Given the description of an element on the screen output the (x, y) to click on. 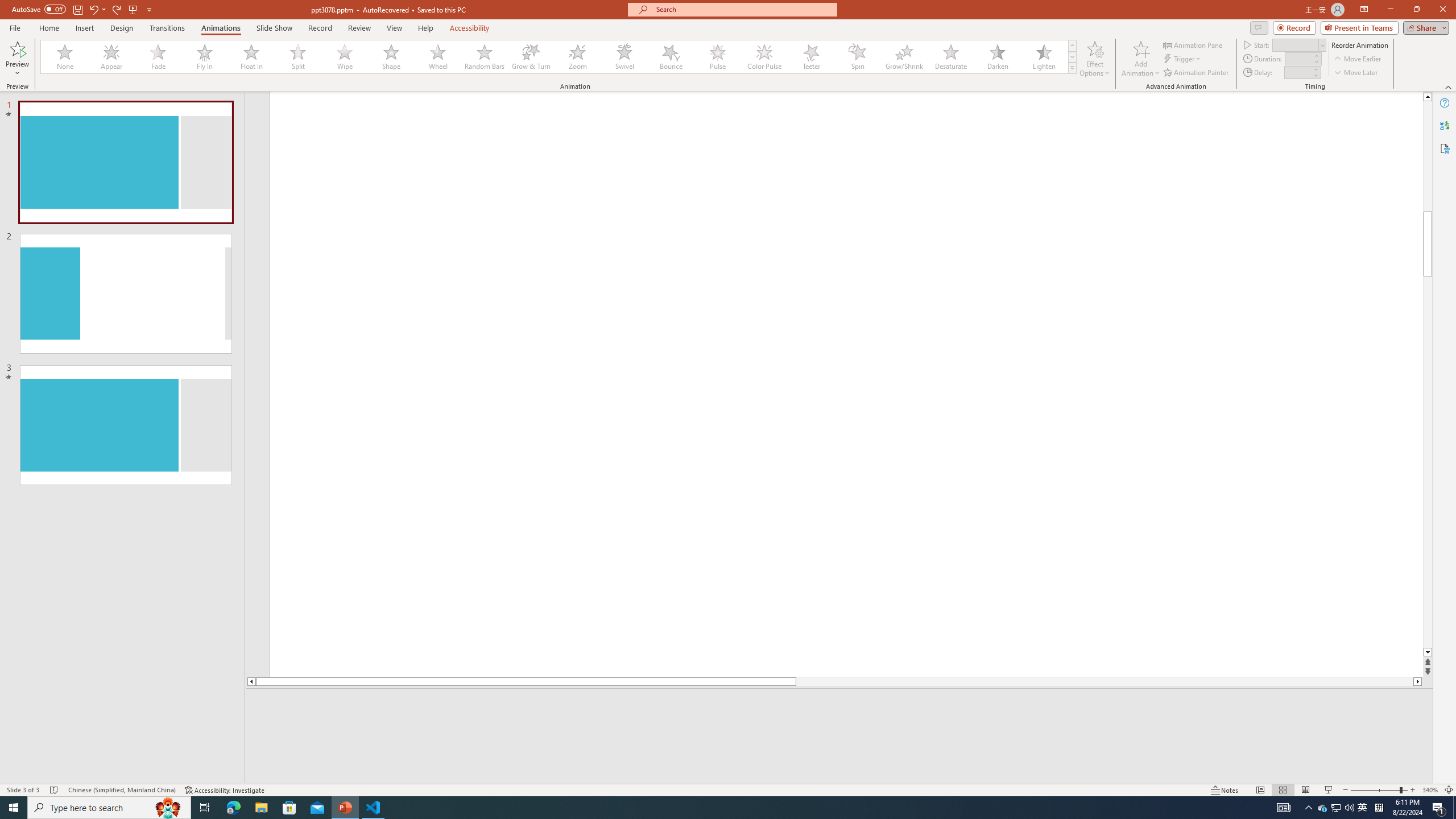
Desaturate (950, 56)
Animation Pane (1193, 44)
Fly In (205, 56)
Darken (997, 56)
